Given the description of an element on the screen output the (x, y) to click on. 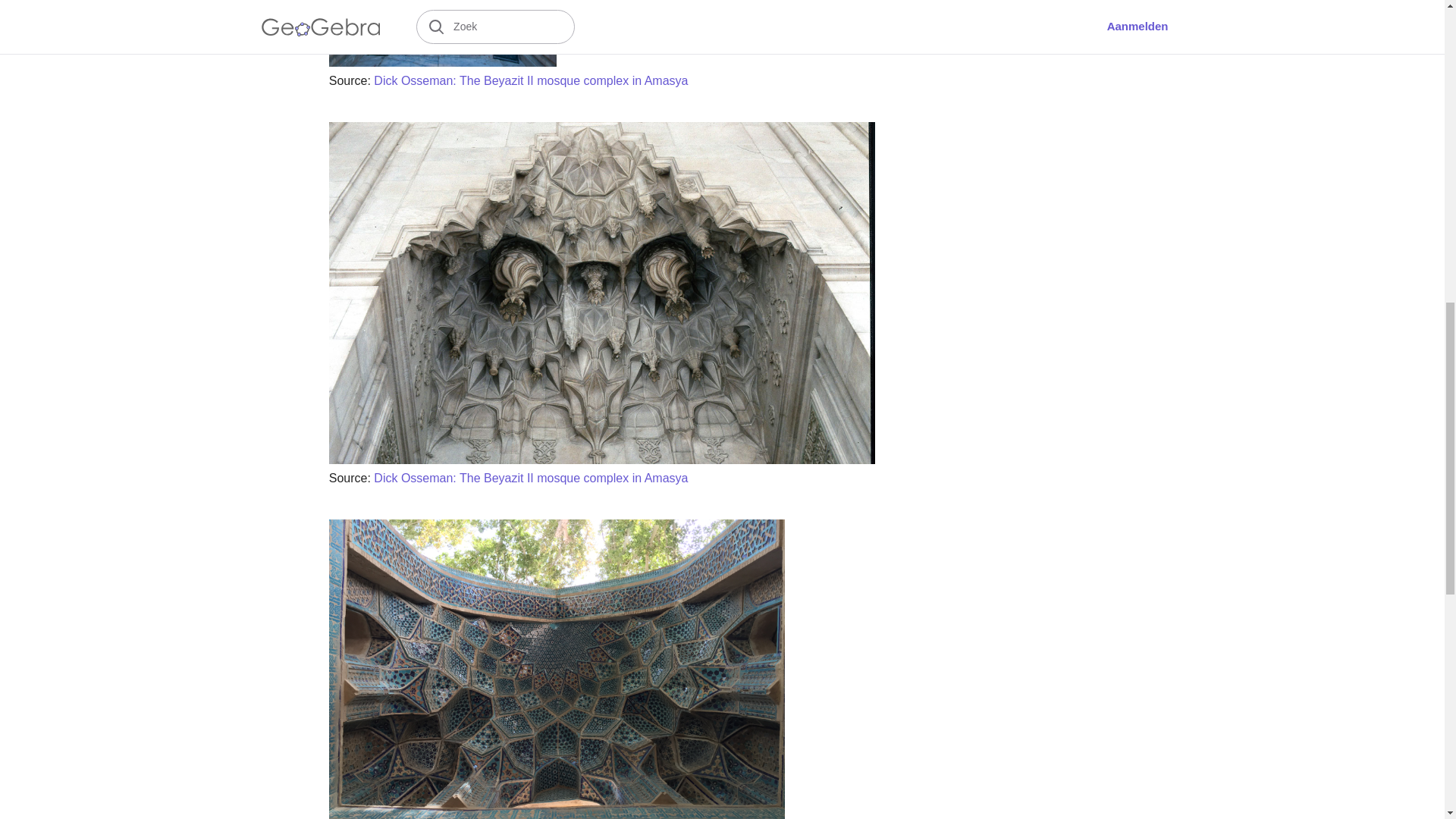
Dick Osseman: The Beyazit II mosque complex in Amasya (530, 80)
Dick Osseman: The Beyazit II mosque complex in Amasya (530, 477)
